Given the description of an element on the screen output the (x, y) to click on. 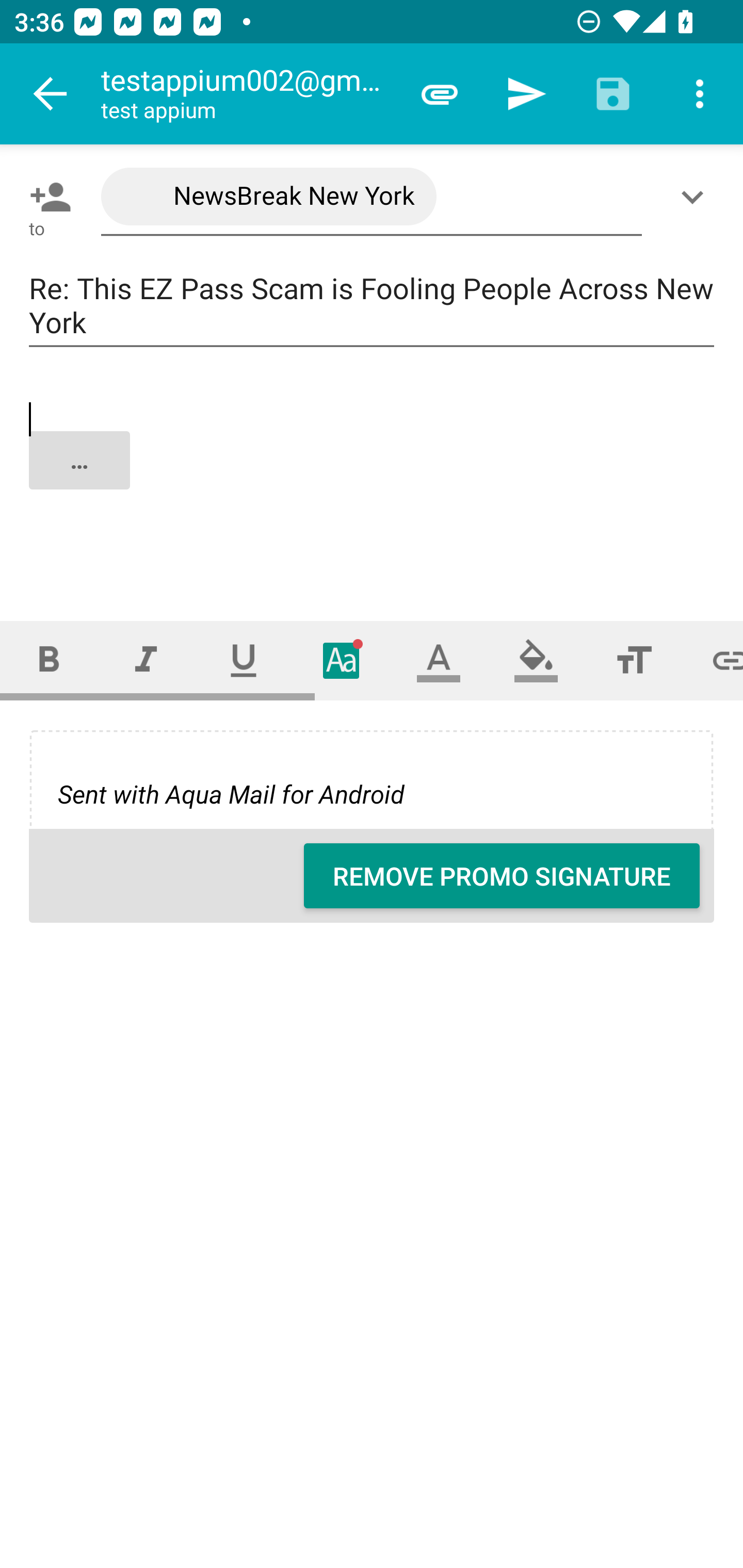
Navigate up (50, 93)
testappium002@gmail.com test appium (248, 93)
Attach (439, 93)
Send (525, 93)
Save (612, 93)
More options (699, 93)
Pick contact: To (46, 196)
Show/Add CC/BCC (696, 196)

…
 (372, 477)
Bold (48, 660)
Italic (145, 660)
Underline (243, 660)
Typeface (font) (341, 660)
Text color (438, 660)
Fill color (536, 660)
Font size (633, 660)
REMOVE PROMO SIGNATURE (501, 875)
